Given the description of an element on the screen output the (x, y) to click on. 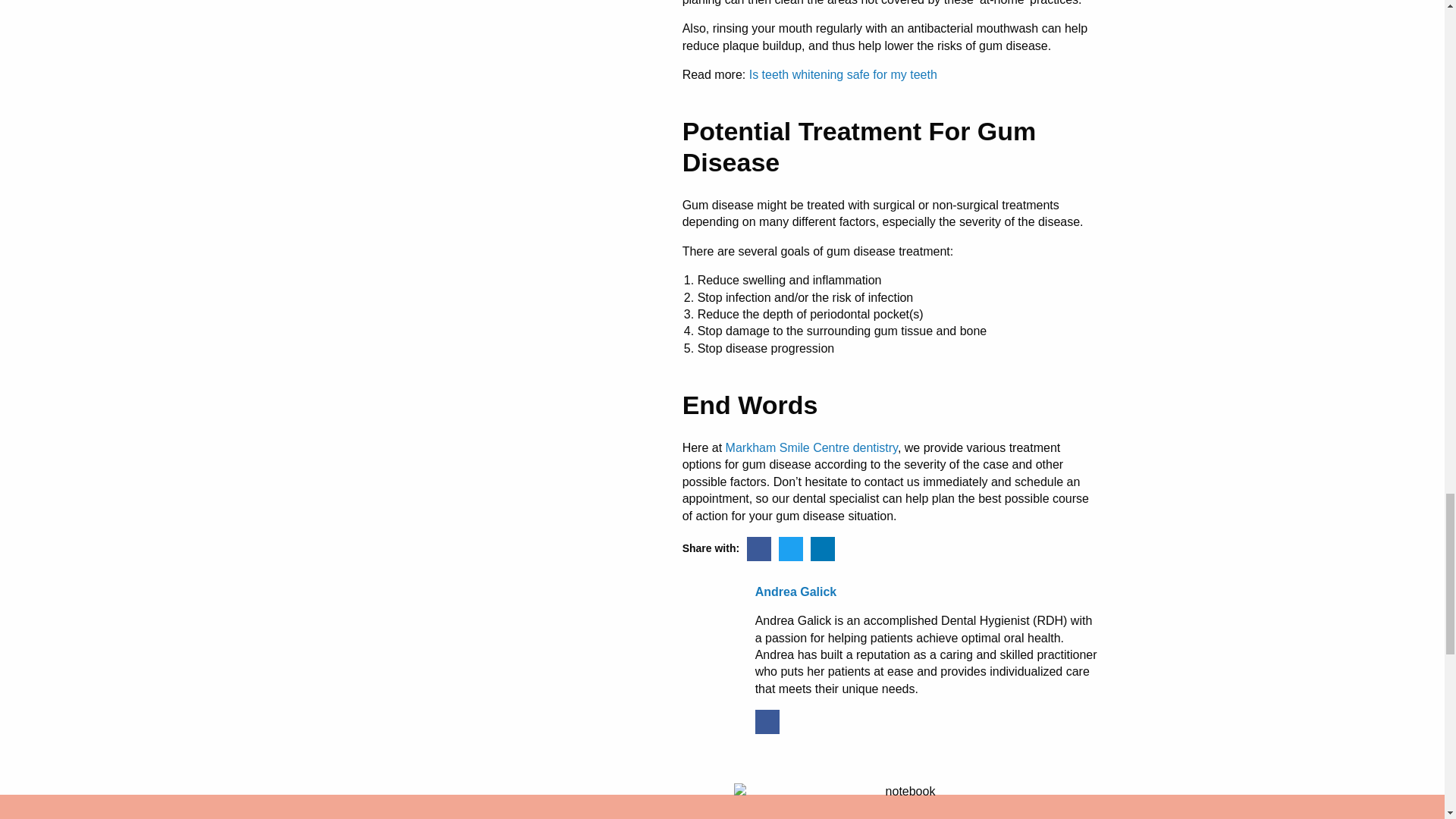
Is teeth whitening safe for my teeth (843, 74)
Markham Smile Centre dentistry (811, 447)
Andrea Galick (927, 591)
